Given the description of an element on the screen output the (x, y) to click on. 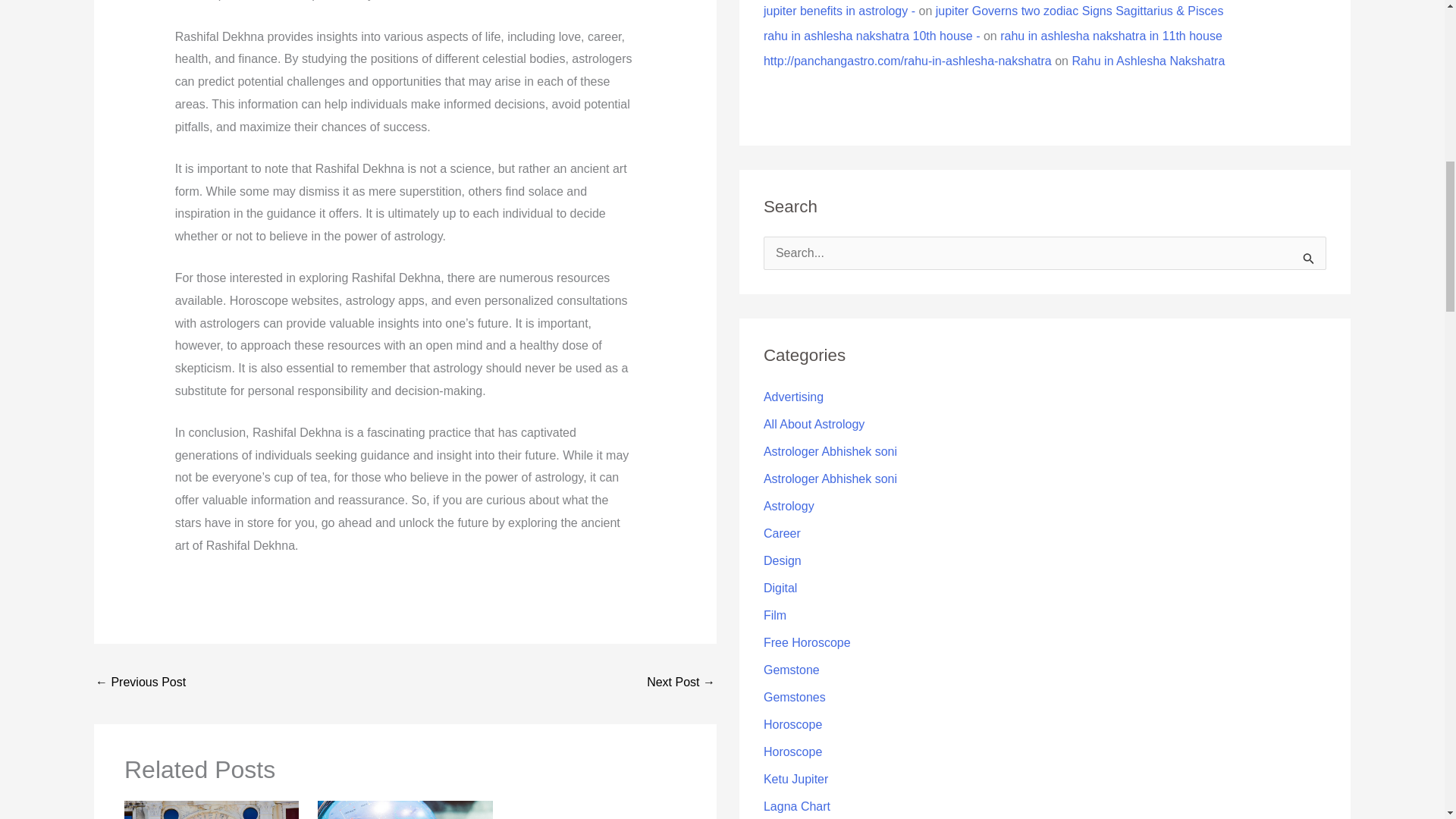
Search (1309, 257)
rahu in ashlesha nakshatra 10th house - (870, 35)
Search (1309, 257)
jupiter benefits in astrology - (838, 10)
rahu in ashlesha nakshatra in 11th house (1111, 35)
Understanding the Significance of Amavasai in Hinduism (141, 683)
